Given the description of an element on the screen output the (x, y) to click on. 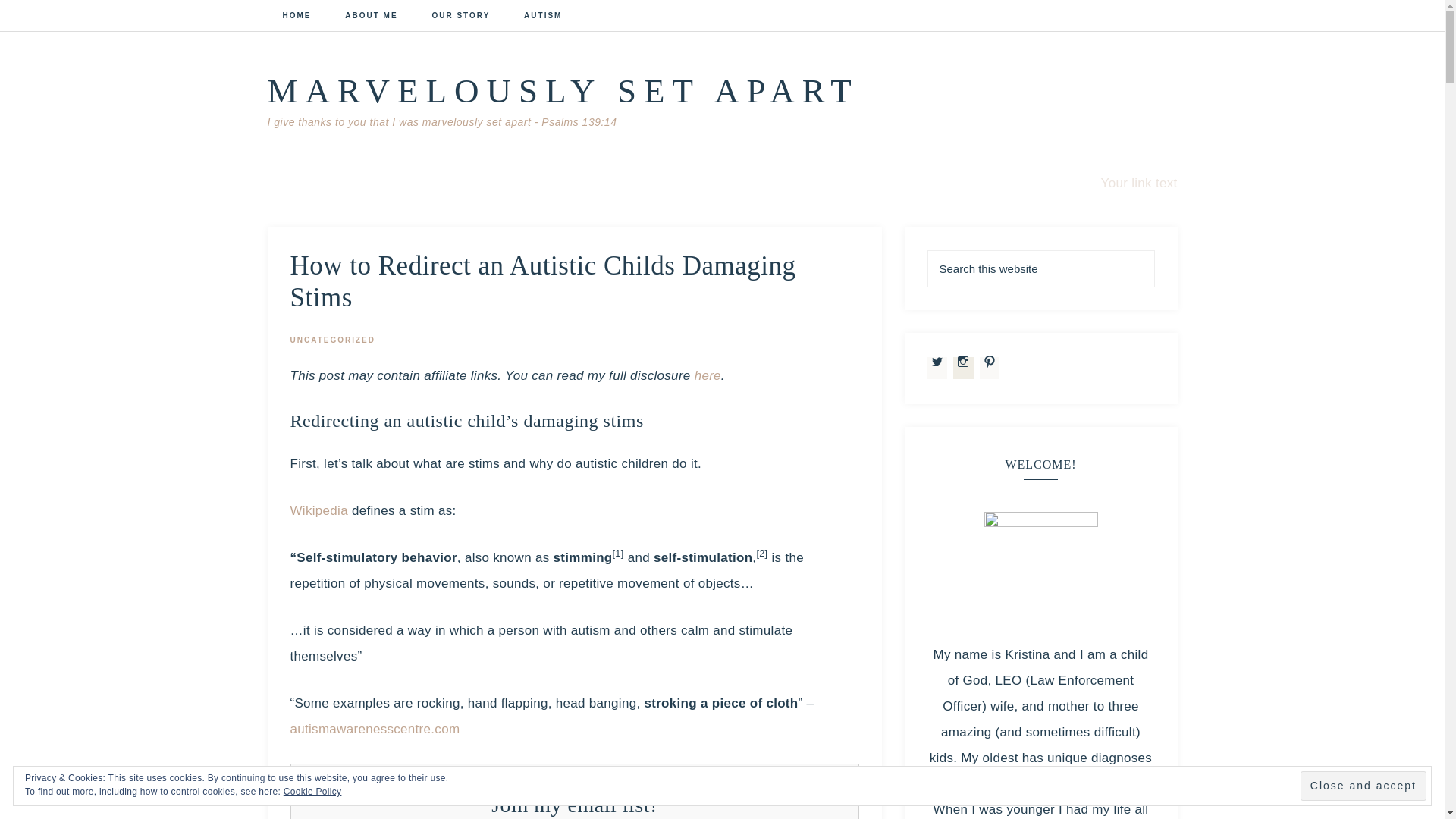
ABOUT ME (371, 17)
Your link text (1138, 183)
AUTISM (542, 17)
Close and accept (1363, 785)
OUR STORY (460, 17)
HOME (296, 17)
autismawarenesscentre.com (374, 728)
MARVELOUSLY SET APART (562, 90)
here (707, 375)
UNCATEGORIZED (331, 339)
Wikipedia (318, 510)
